Given the description of an element on the screen output the (x, y) to click on. 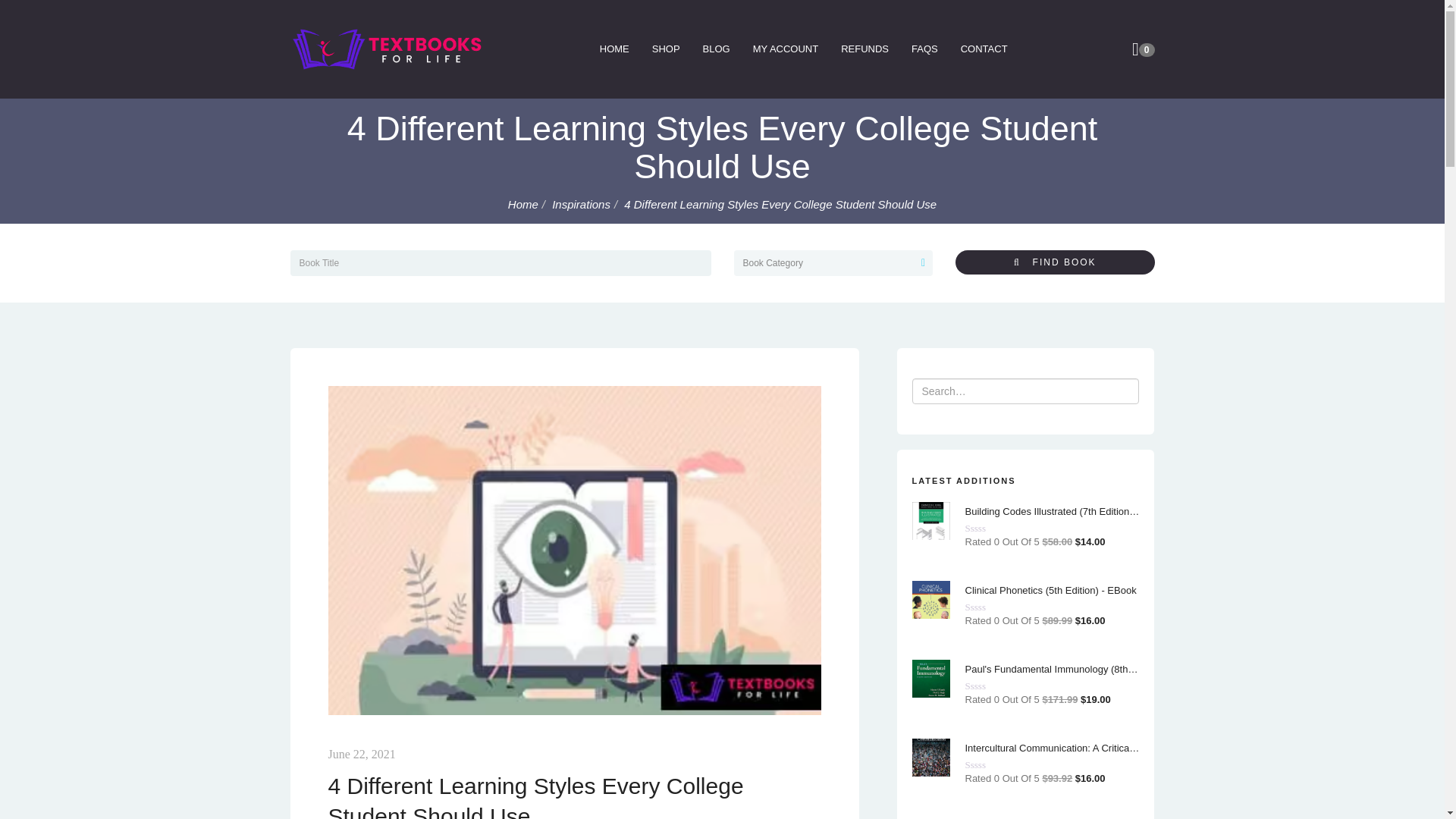
Intercultural Communication: A Critical Perspective - EBook (1050, 746)
Search (40, 12)
Rated 0 out of 5 (990, 764)
Search for: (1024, 391)
Refunds (864, 49)
Blog (716, 49)
FAQs (924, 49)
SHOP (665, 49)
Rated 0 out of 5 (990, 528)
Contact (984, 49)
CONTACT (984, 49)
June 22, 2021 (360, 753)
  FIND BOOK (1054, 262)
My account (785, 49)
HOME (614, 49)
